Given the description of an element on the screen output the (x, y) to click on. 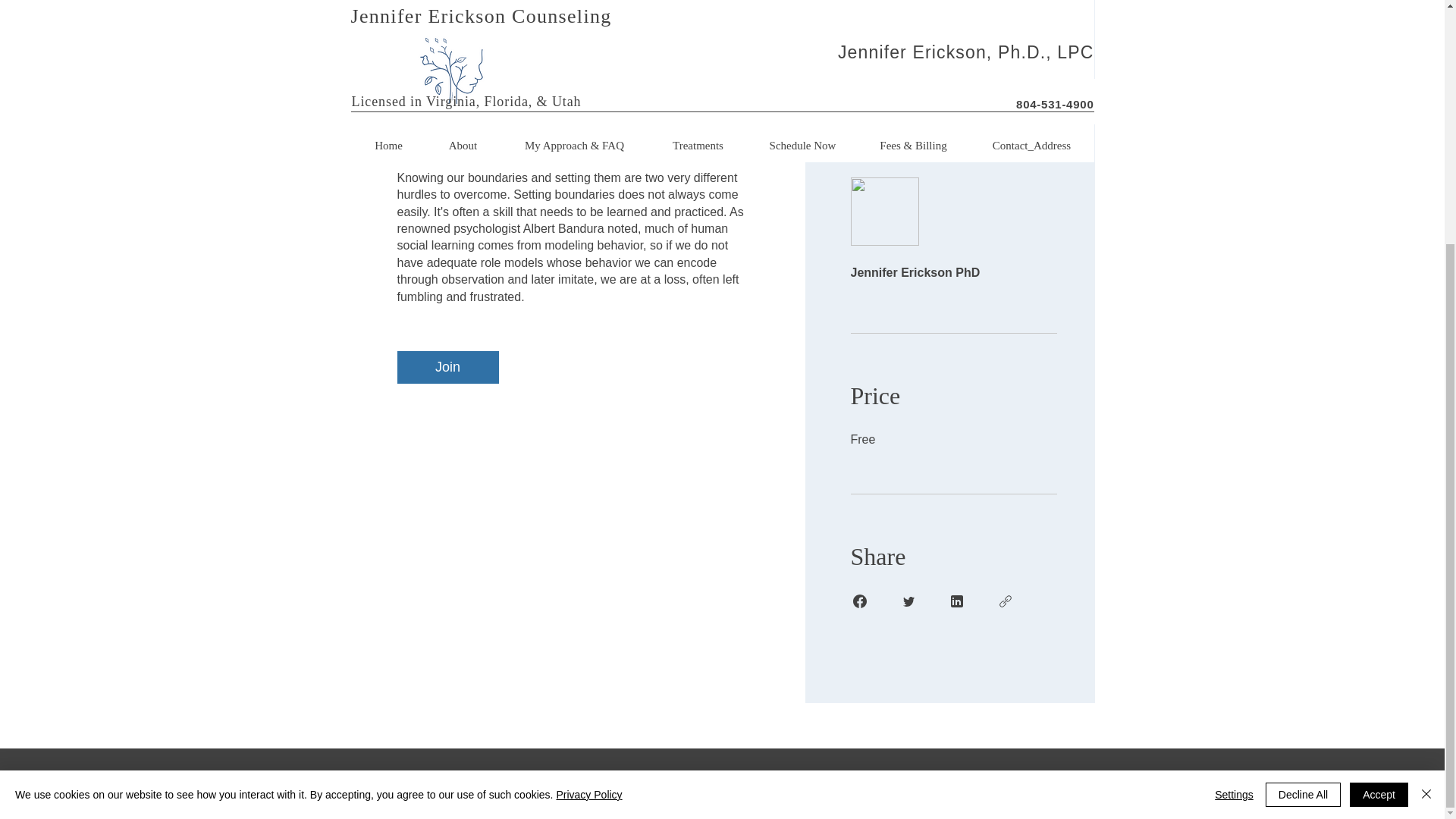
Decline All (1302, 455)
Jennifer Erickson PhD (953, 232)
Join (448, 367)
Accept (1378, 455)
Privacy Policy (588, 455)
